Given the description of an element on the screen output the (x, y) to click on. 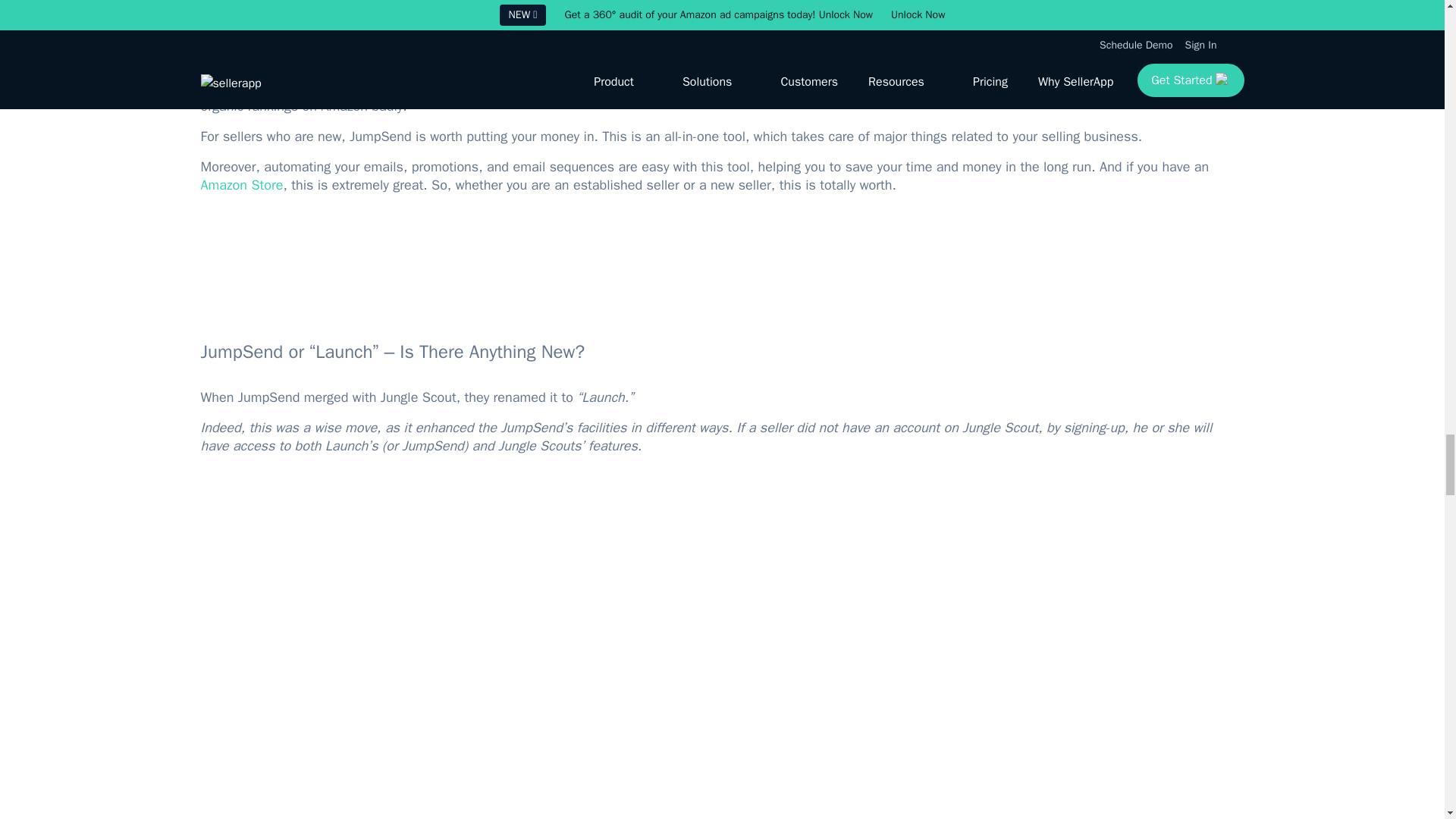
Amazon Store (241, 184)
